Given the description of an element on the screen output the (x, y) to click on. 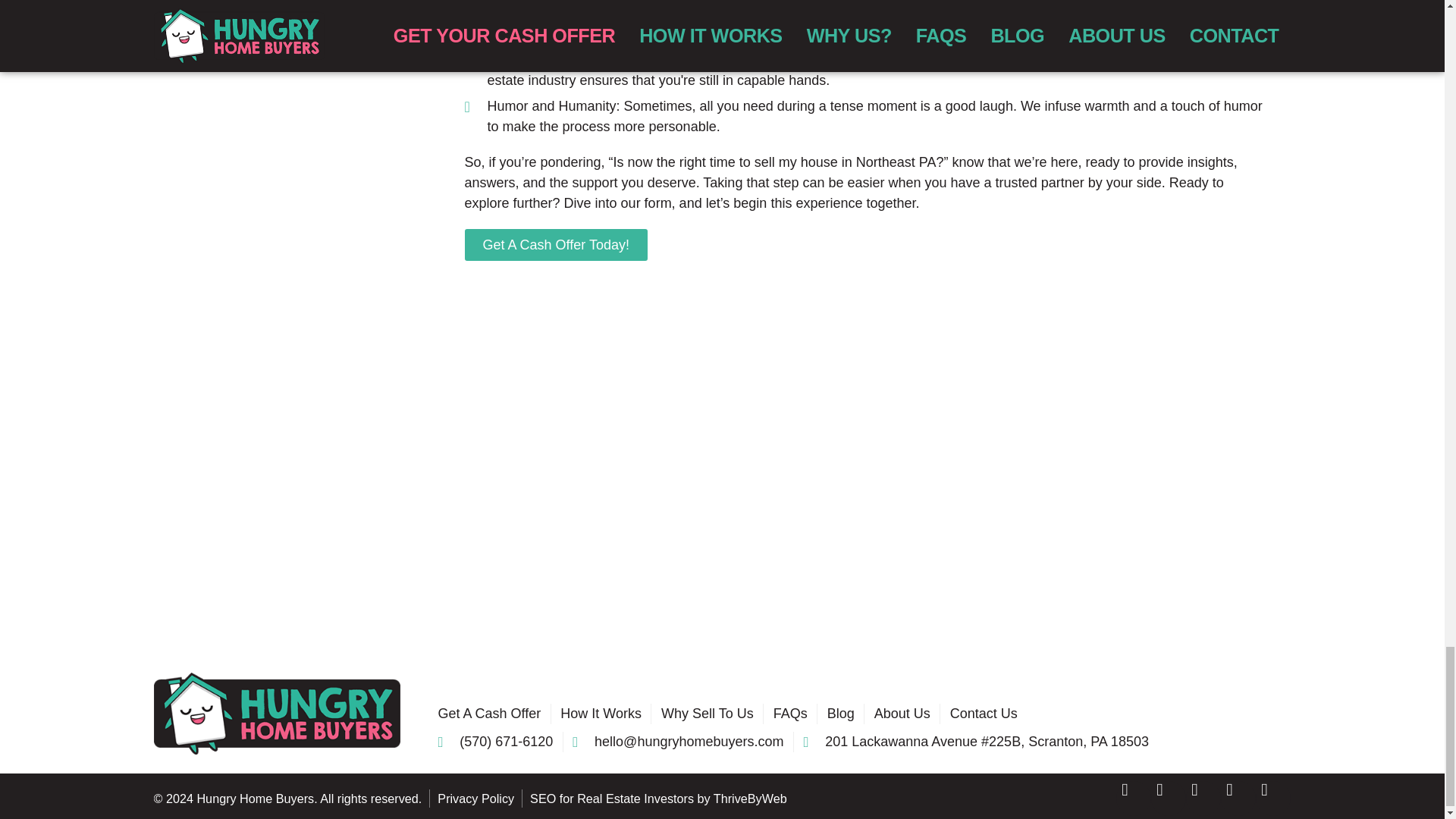
Get A Cash Offer Today! (555, 245)
